Given the description of an element on the screen output the (x, y) to click on. 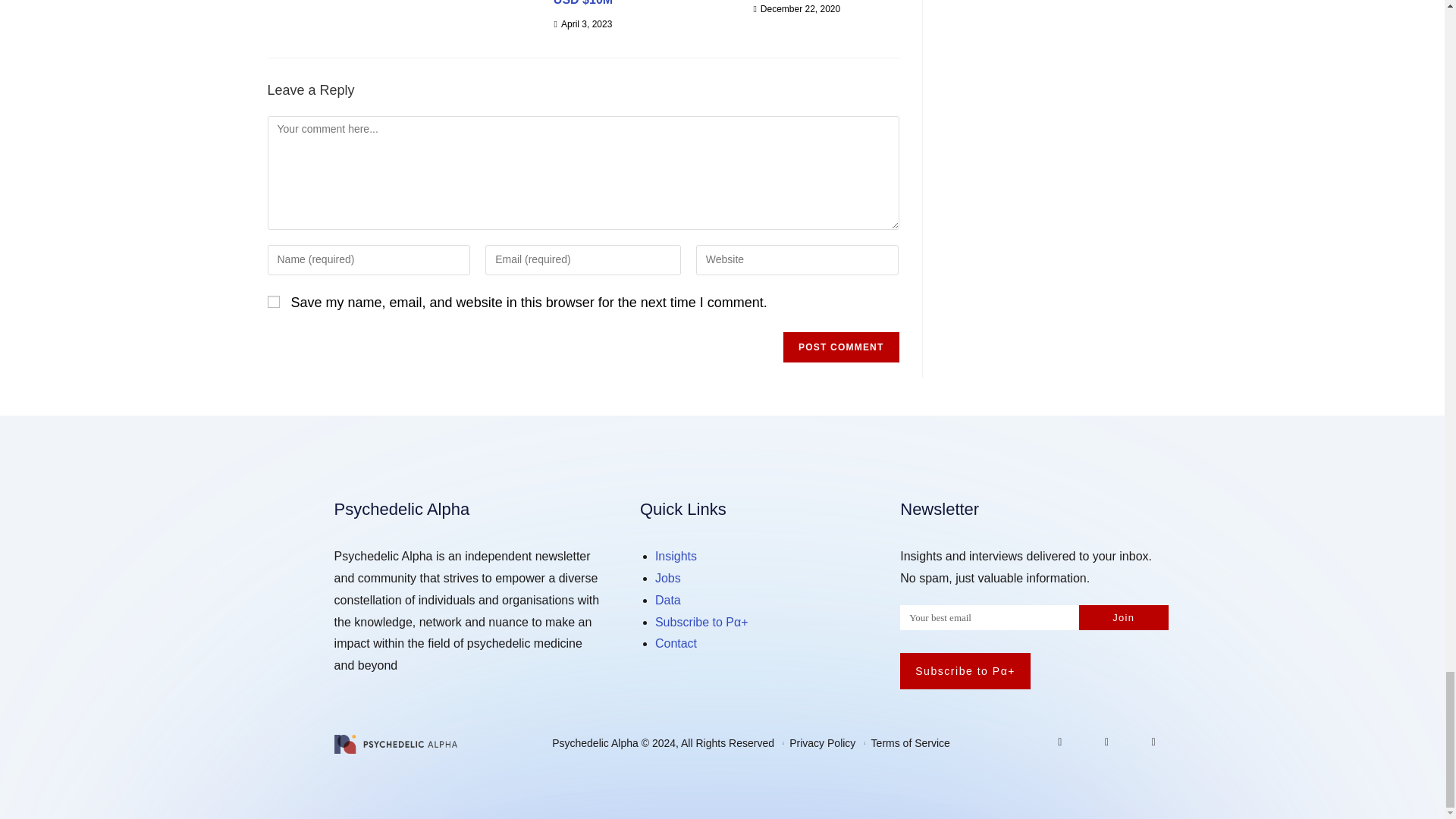
Post Comment (840, 347)
yes (272, 301)
